Given the description of an element on the screen output the (x, y) to click on. 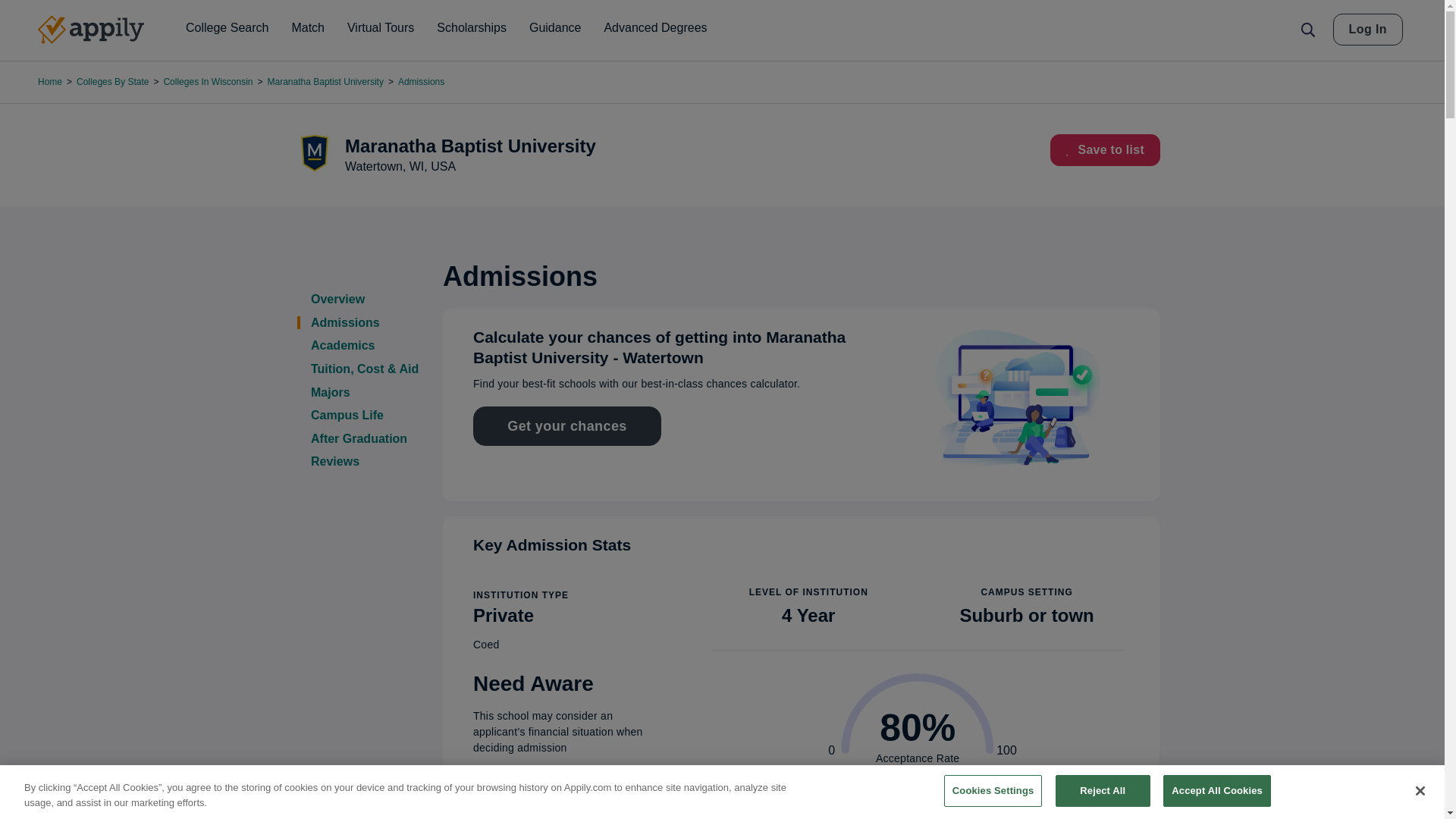
Virtual Tours (380, 28)
Match (307, 28)
Scholarships (471, 28)
College Search (226, 28)
Home (90, 29)
